Given the description of an element on the screen output the (x, y) to click on. 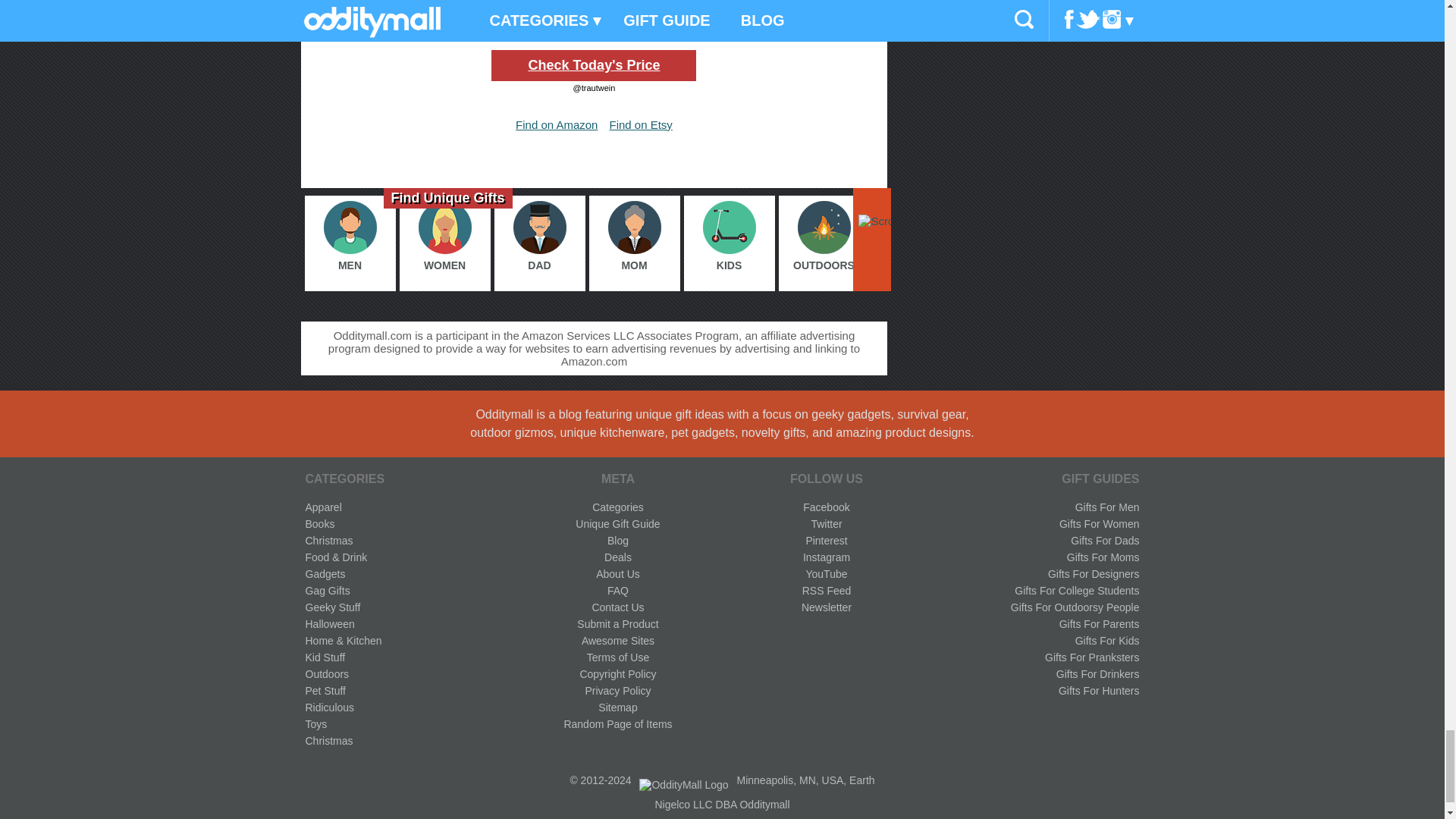
Find on Etsy (639, 124)
Find on Amazon (555, 124)
Check Today's Price (593, 65)
